Given the description of an element on the screen output the (x, y) to click on. 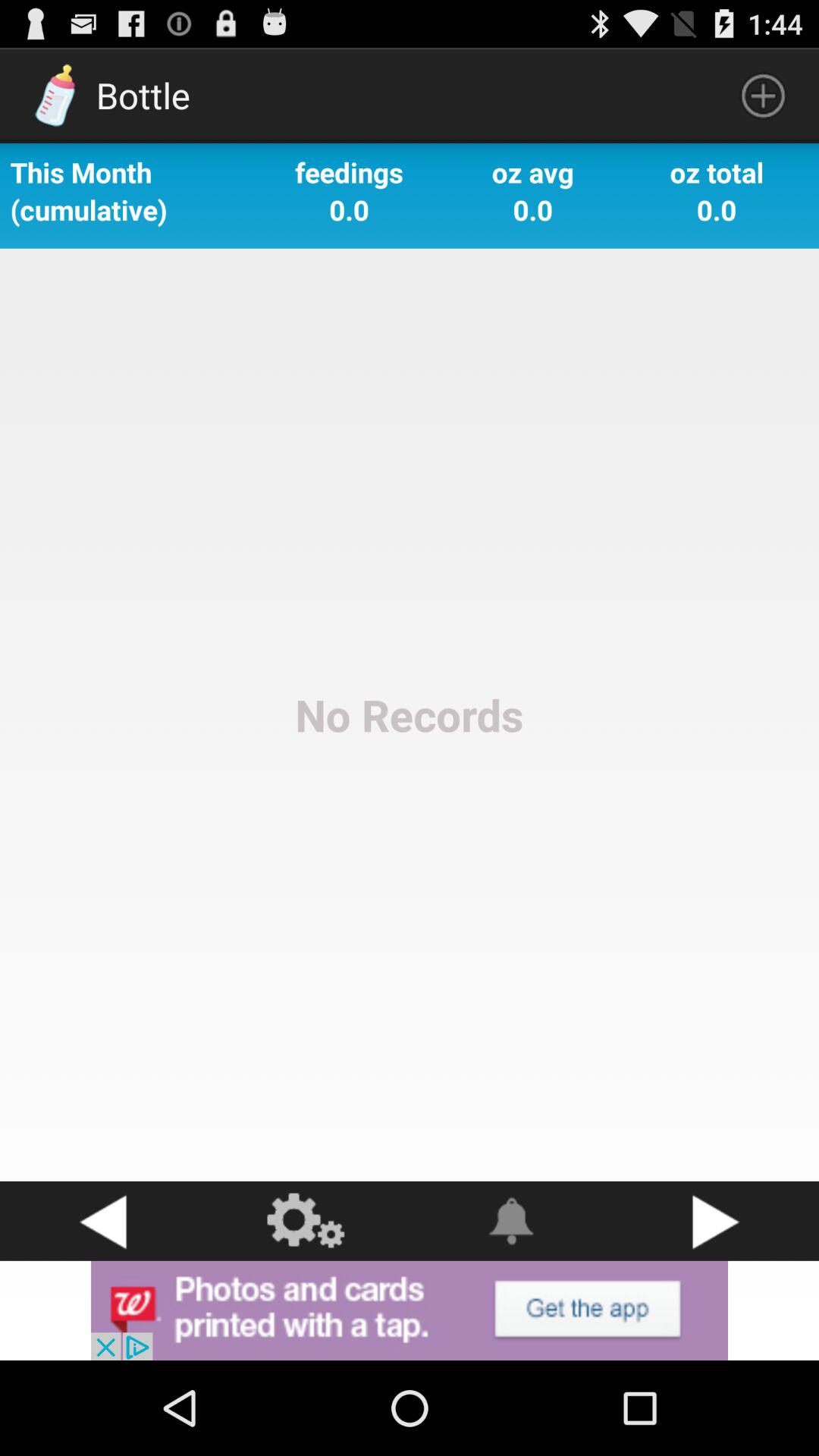
next page arrow icon (716, 1220)
